Given the description of an element on the screen output the (x, y) to click on. 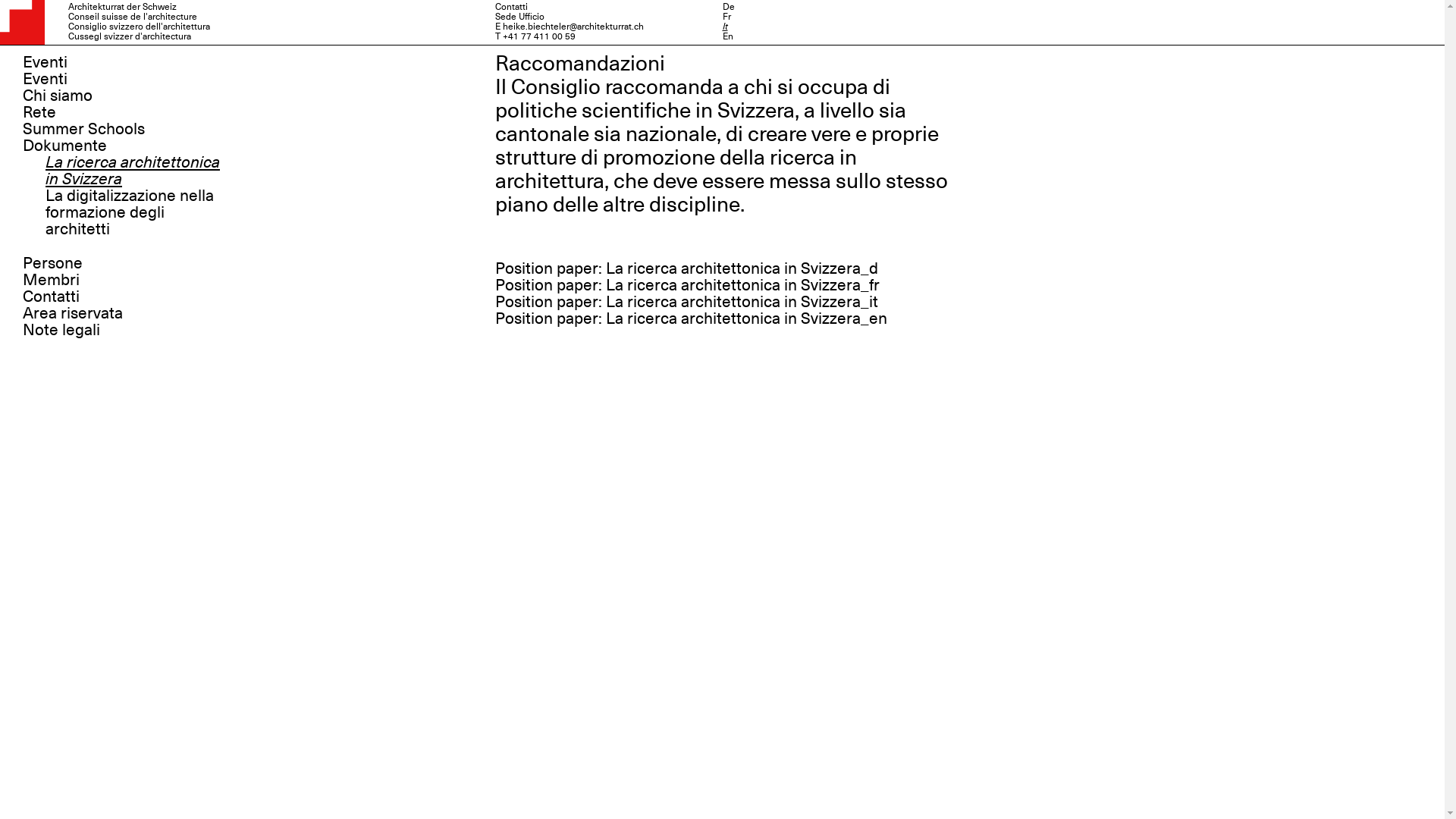
Rete Element type: text (39, 112)
Fr Element type: text (725, 16)
La ricerca architettonica in Svizzera Element type: text (132, 170)
Summer Schools Element type: text (83, 128)
Position paper: La ricerca architettonica in Svizzera_en Element type: text (690, 318)
Note legali Element type: text (61, 329)
En Element type: text (726, 36)
La digitalizzazione nella formazione degli architetti Element type: text (129, 211)
Position paper: La ricerca architettonica in Svizzera_it Element type: text (685, 301)
De Element type: text (727, 6)
Dokumente Element type: text (64, 145)
Contatti Element type: text (50, 296)
Area riservata Element type: text (72, 313)
Eventi Element type: text (44, 78)
It Element type: text (724, 26)
Persone Element type: text (52, 263)
Position paper: La ricerca architettonica in Svizzera_d Element type: text (685, 268)
Membri Element type: text (50, 279)
Eventi Element type: text (44, 62)
Chi siamo Element type: text (57, 95)
Position paper: La ricerca architettonica in Svizzera_fr Element type: text (686, 284)
heike.biechteler@architekturrat.ch Element type: text (572, 26)
